Given the description of an element on the screen output the (x, y) to click on. 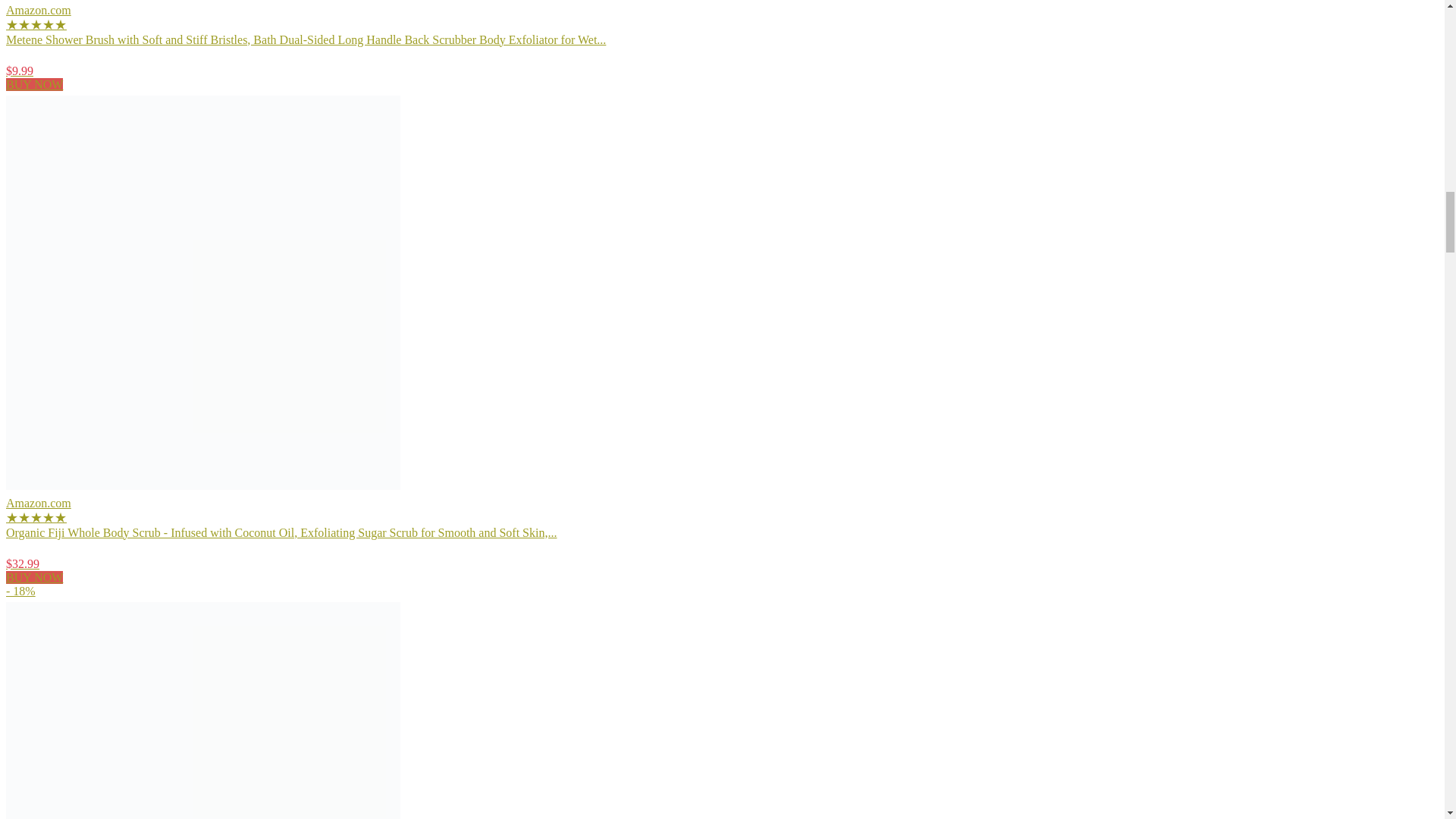
BUY NOW (33, 576)
BUY NOW (33, 83)
